Given the description of an element on the screen output the (x, y) to click on. 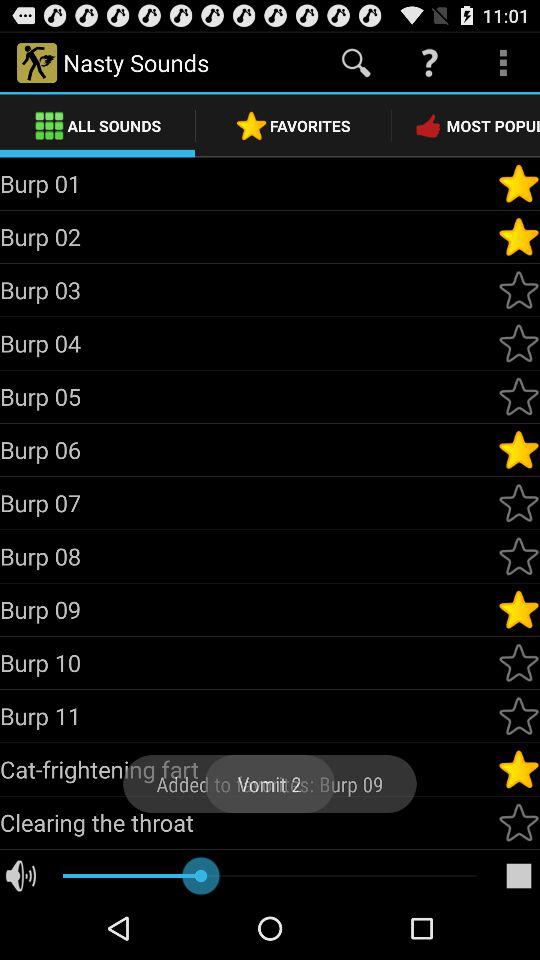
press the burp 10 (248, 662)
